Given the description of an element on the screen output the (x, y) to click on. 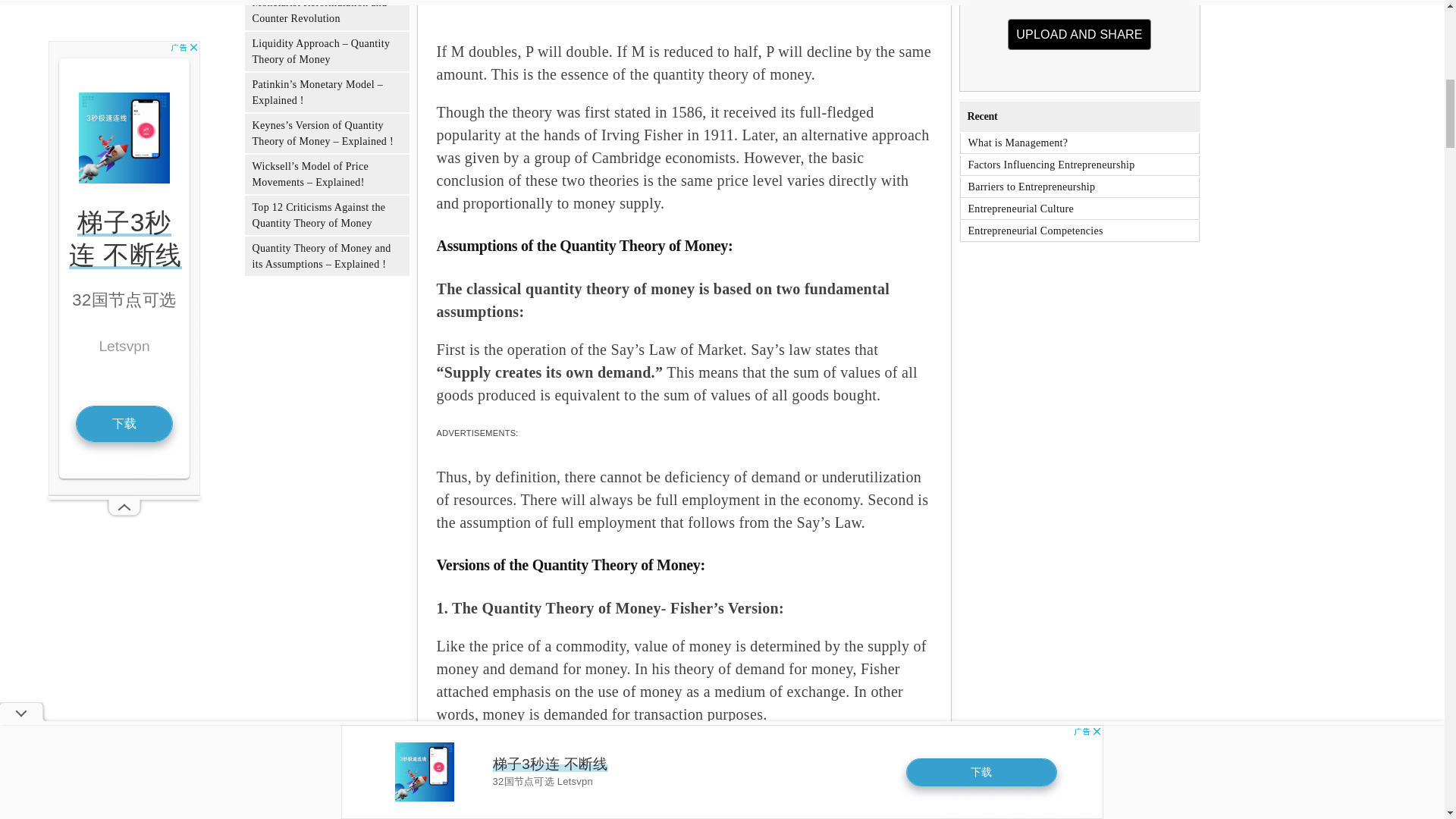
Top 12 Criticisms Against the Quantity Theory of Money (1080, 38)
Advertisement (318, 215)
